Given the description of an element on the screen output the (x, y) to click on. 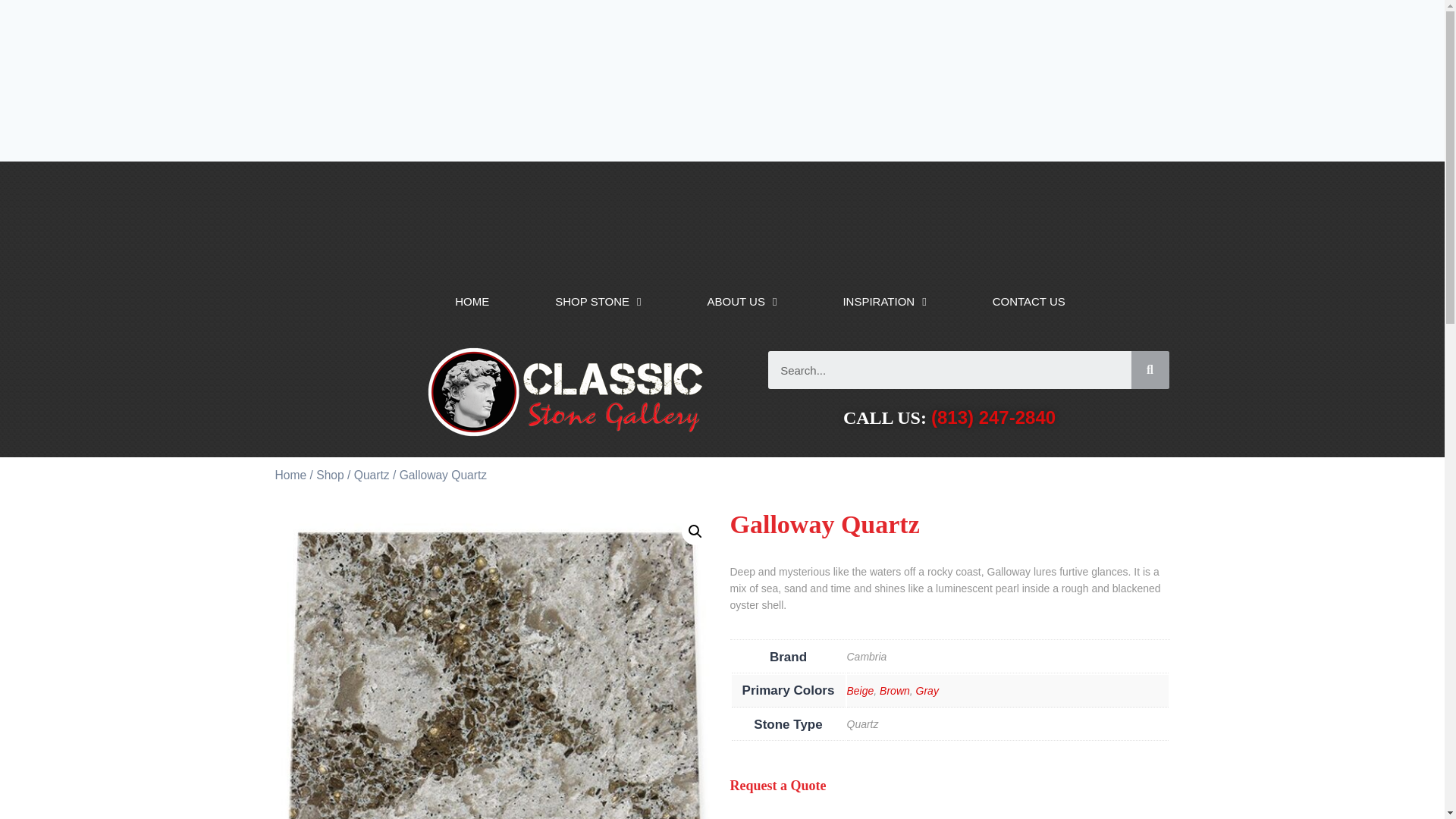
SHOP STONE (598, 296)
INSPIRATION (884, 296)
Search (949, 370)
HOME (472, 296)
CONTACT US (1028, 296)
Search (1150, 370)
ABOUT US (742, 296)
